Given the description of an element on the screen output the (x, y) to click on. 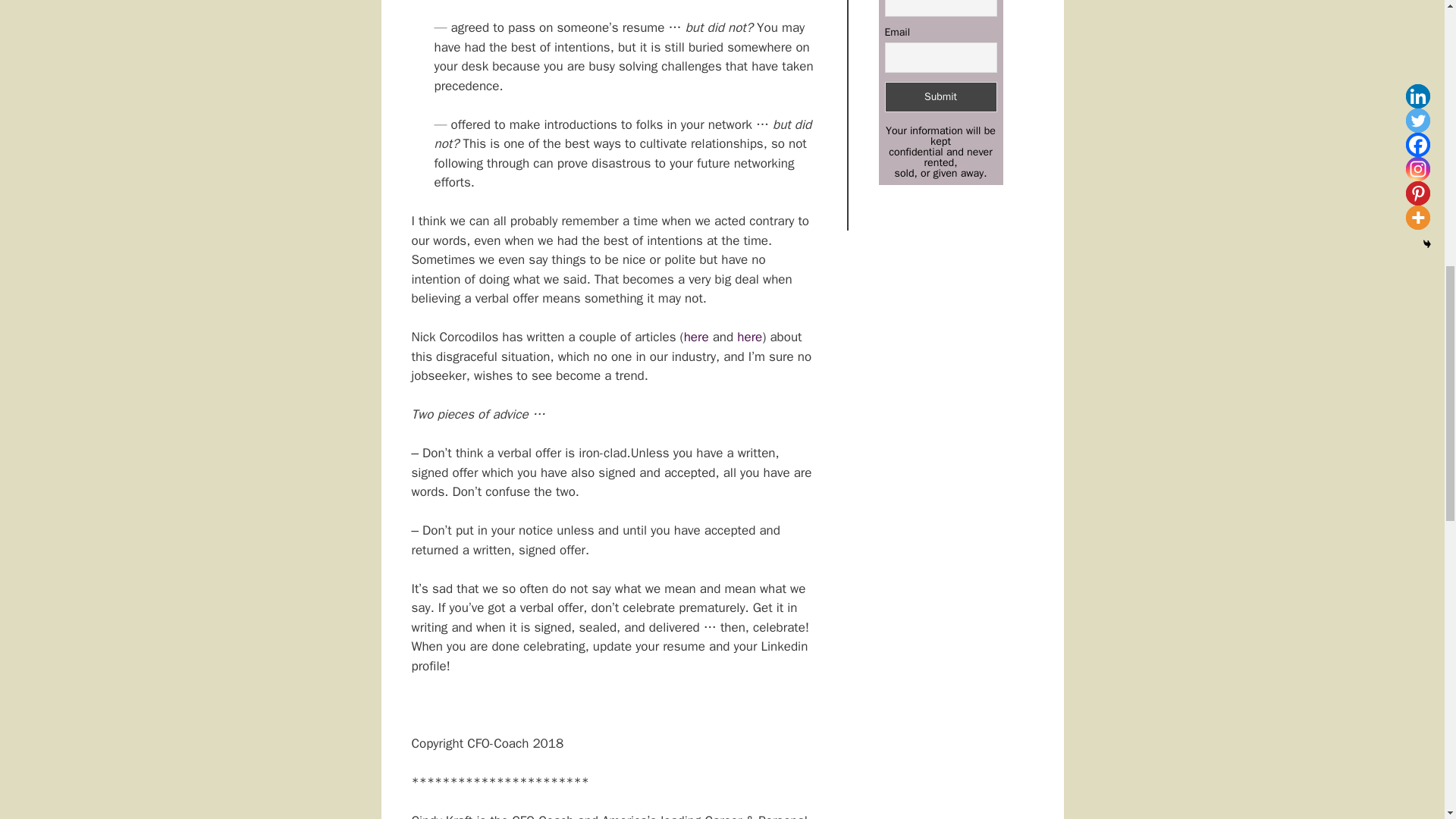
here (748, 336)
here (696, 336)
Submit (939, 96)
